Given the description of an element on the screen output the (x, y) to click on. 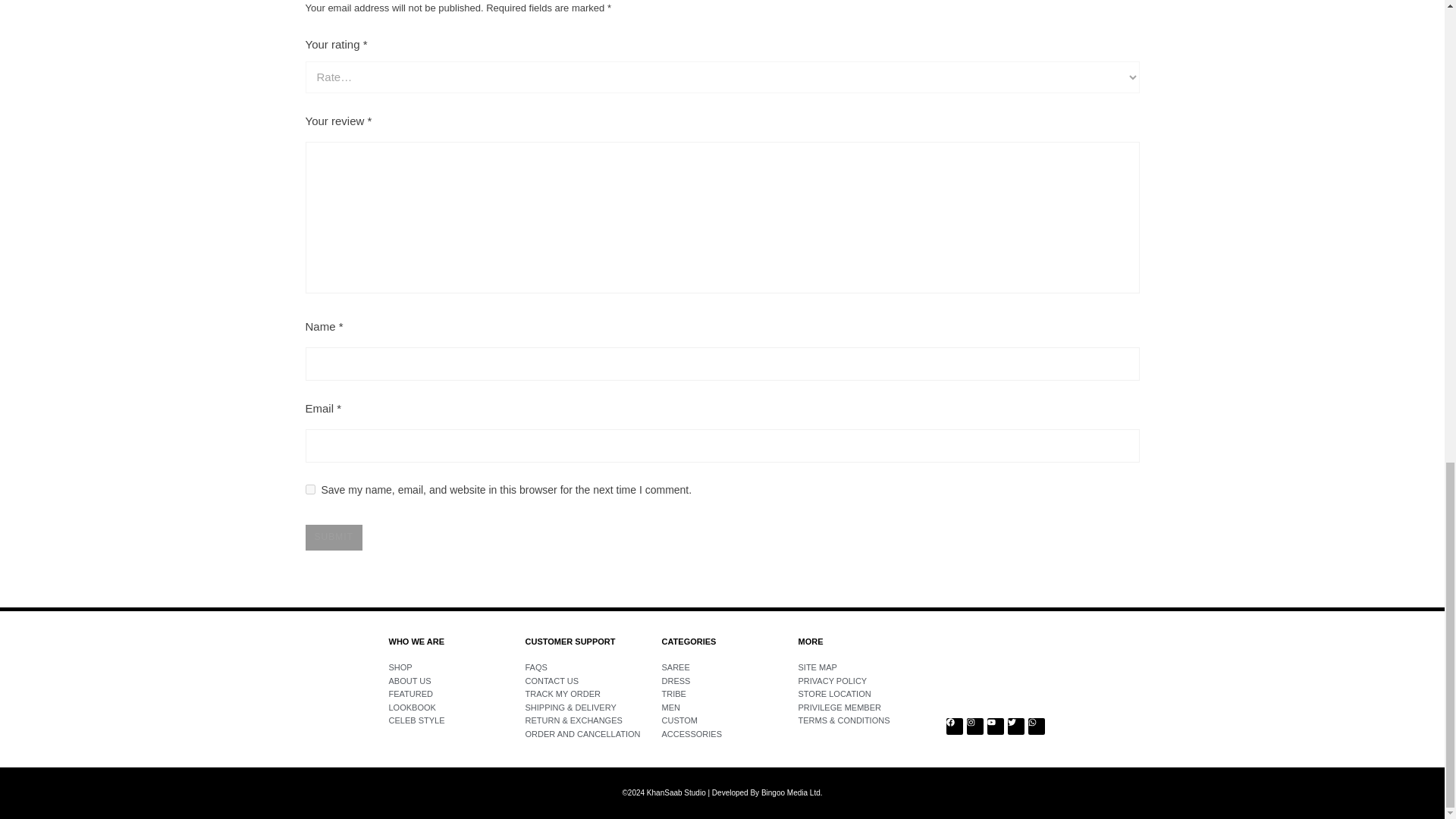
yes (309, 489)
Submit (332, 537)
